Given the description of an element on the screen output the (x, y) to click on. 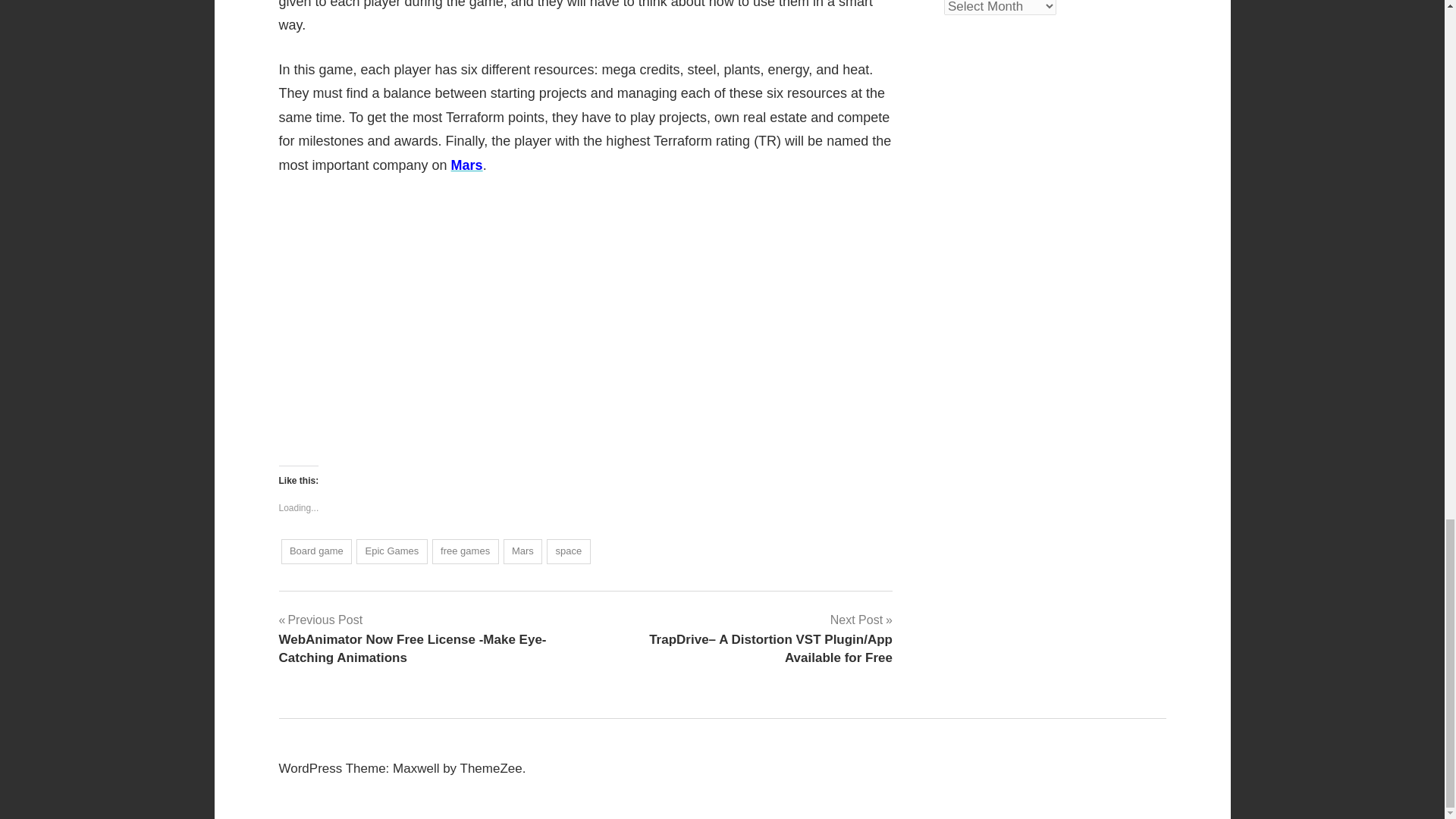
Mars (523, 551)
Mars (467, 165)
Epic Games (392, 551)
free games (465, 551)
YouTube video player (491, 317)
Board game (316, 551)
space (568, 551)
